Given the description of an element on the screen output the (x, y) to click on. 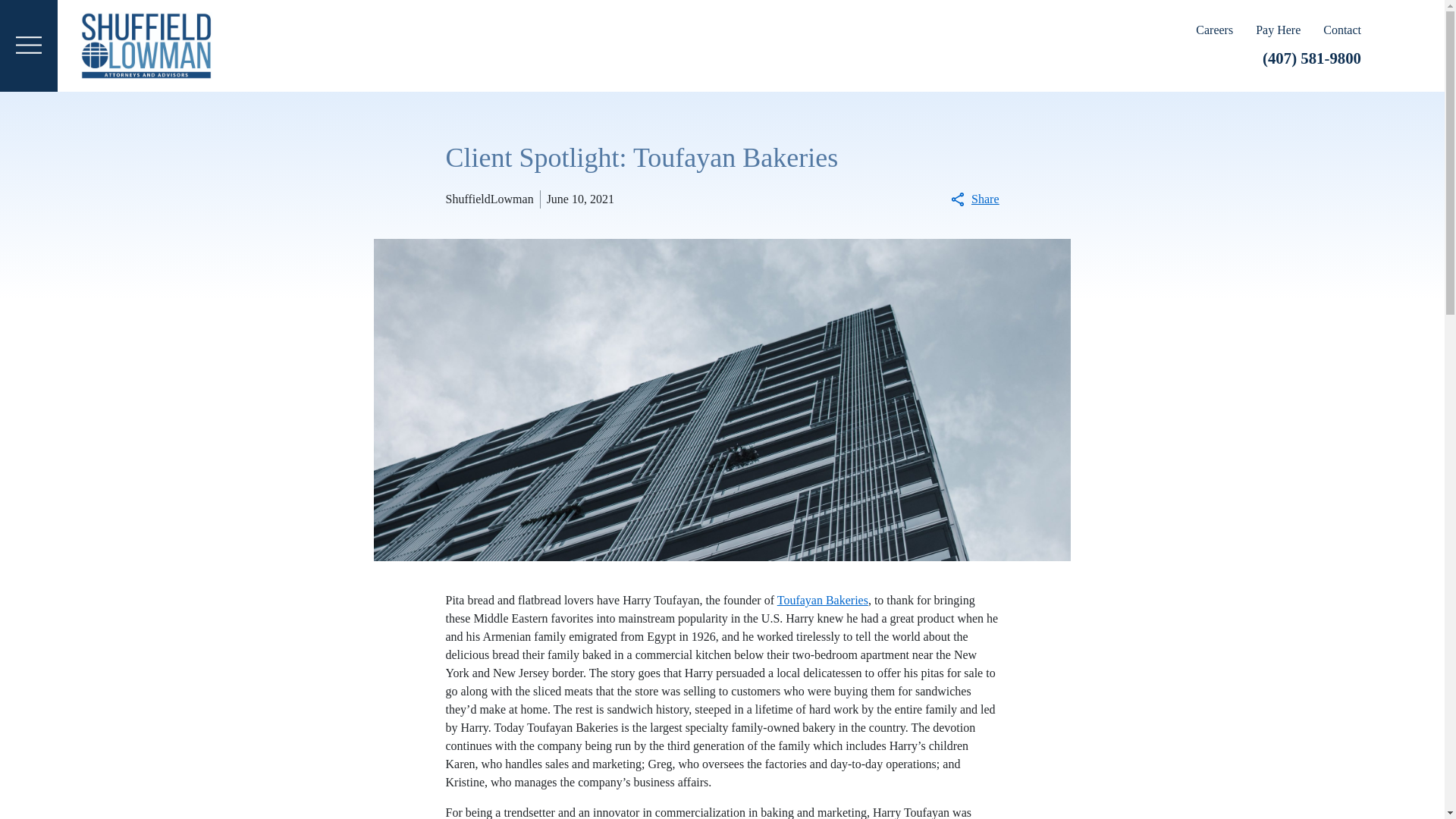
Careers (1225, 30)
Contact (1342, 30)
Pay Here (1289, 30)
